Given the description of an element on the screen output the (x, y) to click on. 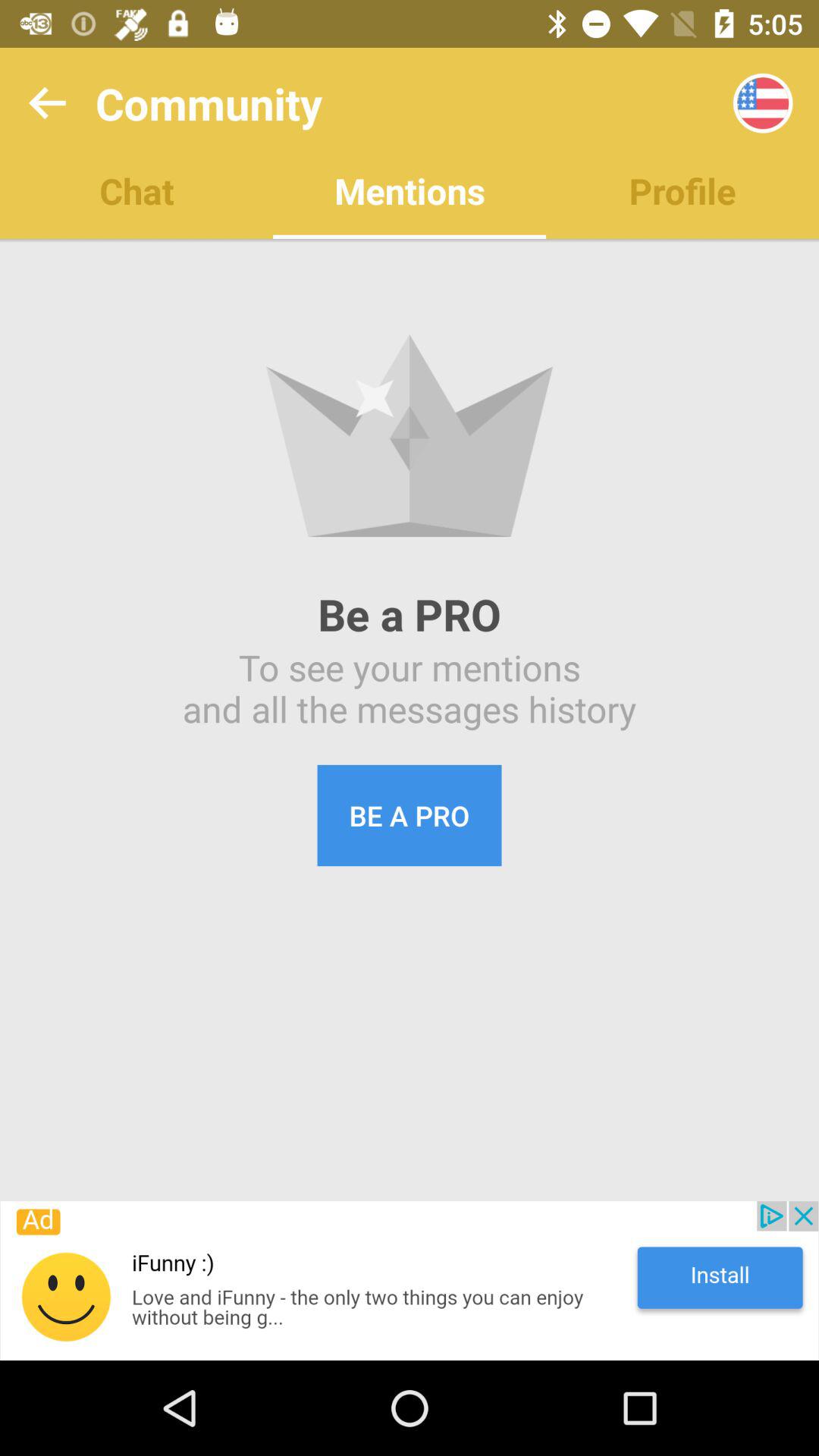
advertisement to install ifunny app (409, 1280)
